Given the description of an element on the screen output the (x, y) to click on. 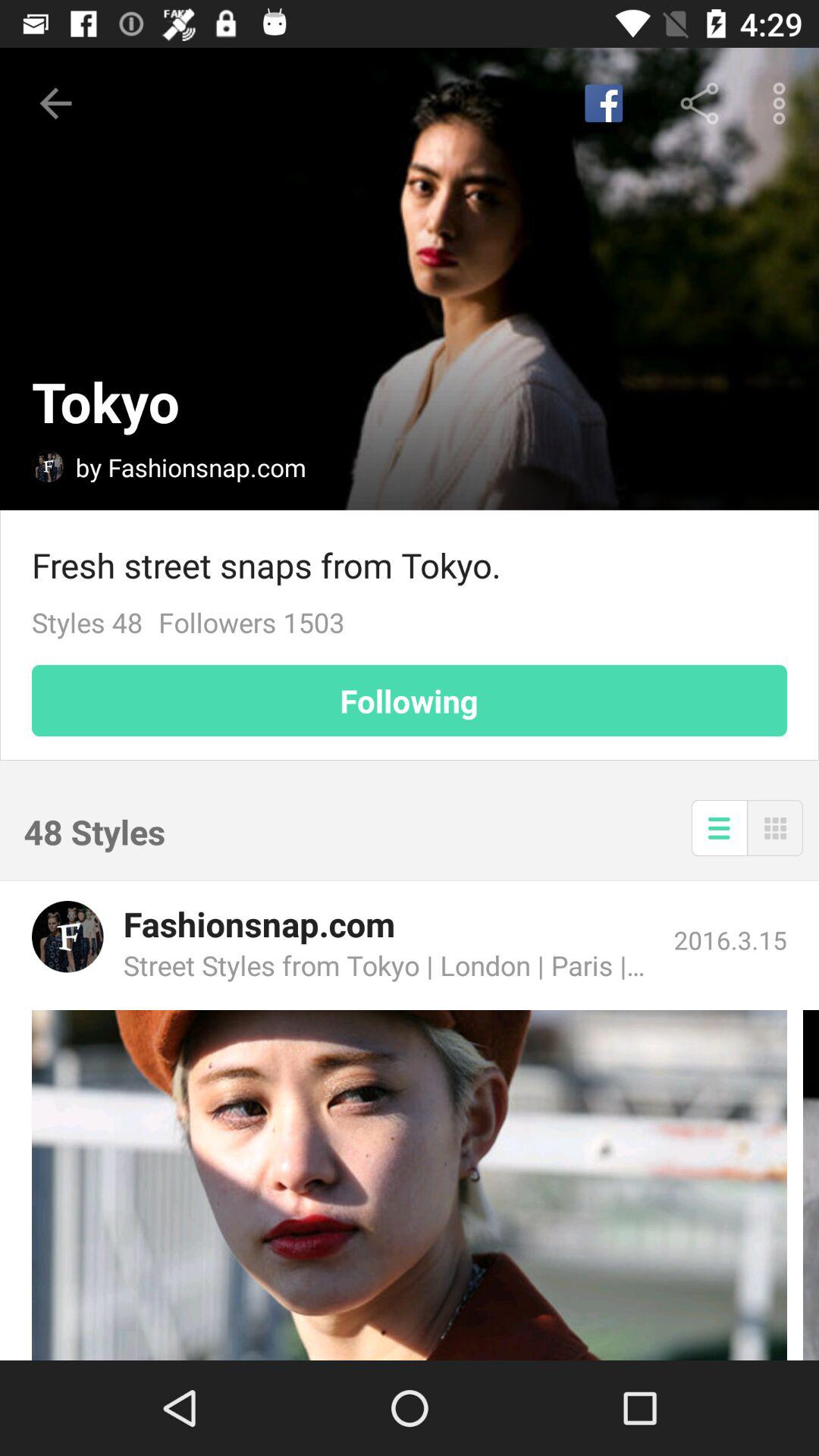
company page (67, 936)
